Given the description of an element on the screen output the (x, y) to click on. 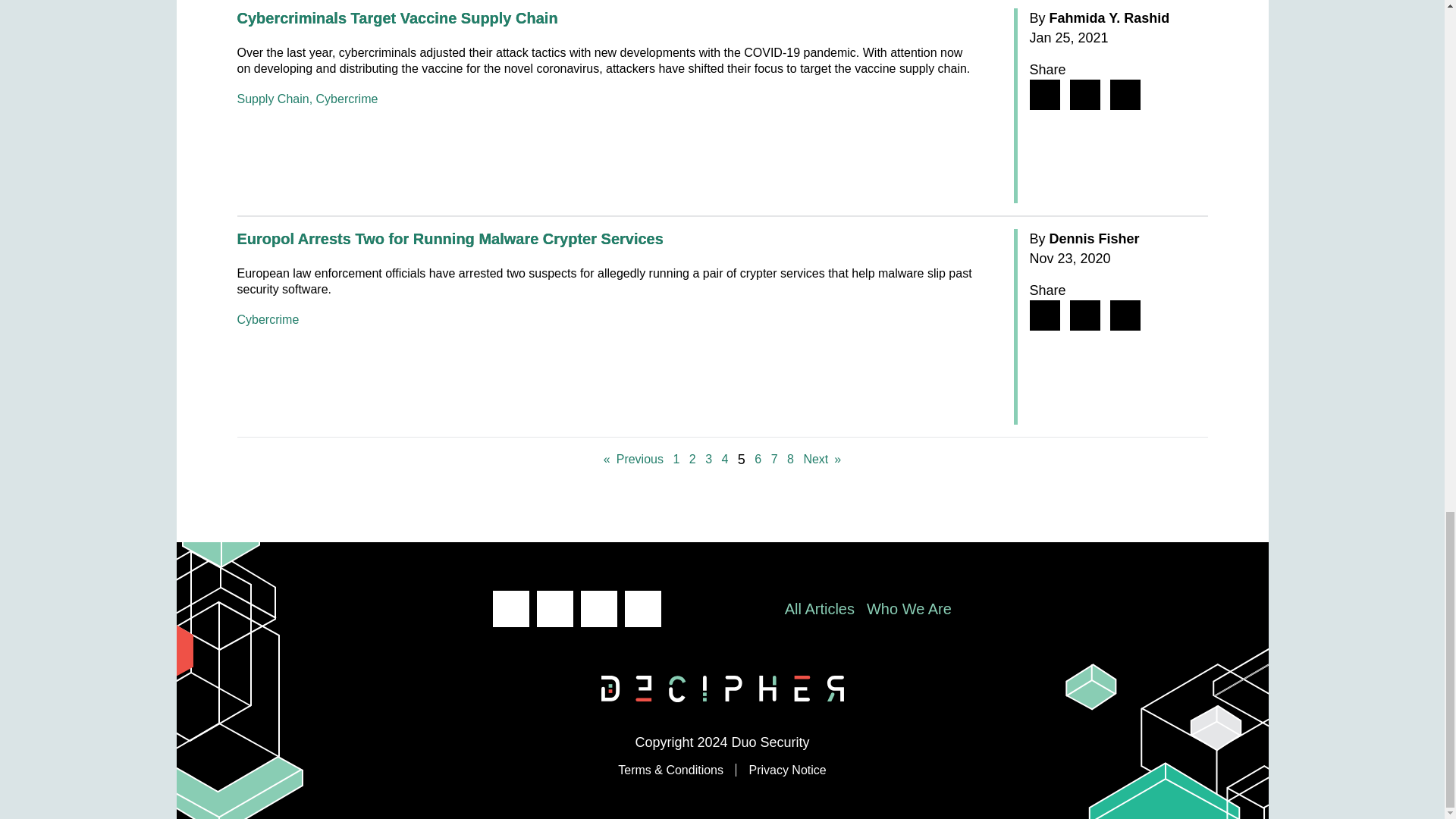
Cybercrime (346, 98)
Cybercriminals Target Vaccine Supply Chain (396, 17)
Supply Chain (271, 98)
